Given the description of an element on the screen output the (x, y) to click on. 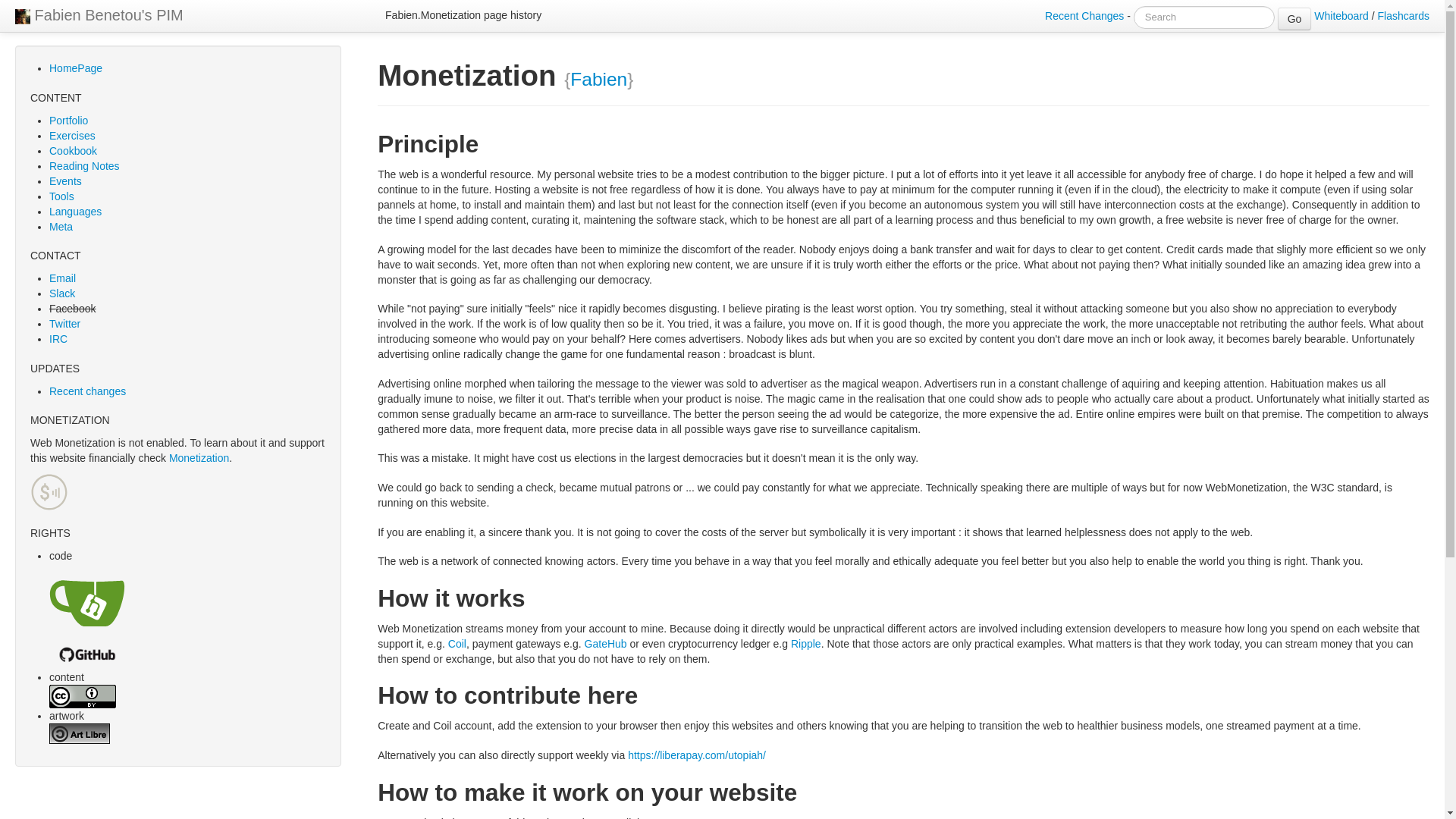
Slack (62, 293)
Recent Changes (1084, 15)
Exercises (72, 135)
Twitter (64, 323)
Fabien Benetou's PIM (99, 15)
Email (62, 277)
Languages (75, 211)
whiteboard (1341, 15)
Events (65, 181)
Flashcards (1403, 15)
